Given the description of an element on the screen output the (x, y) to click on. 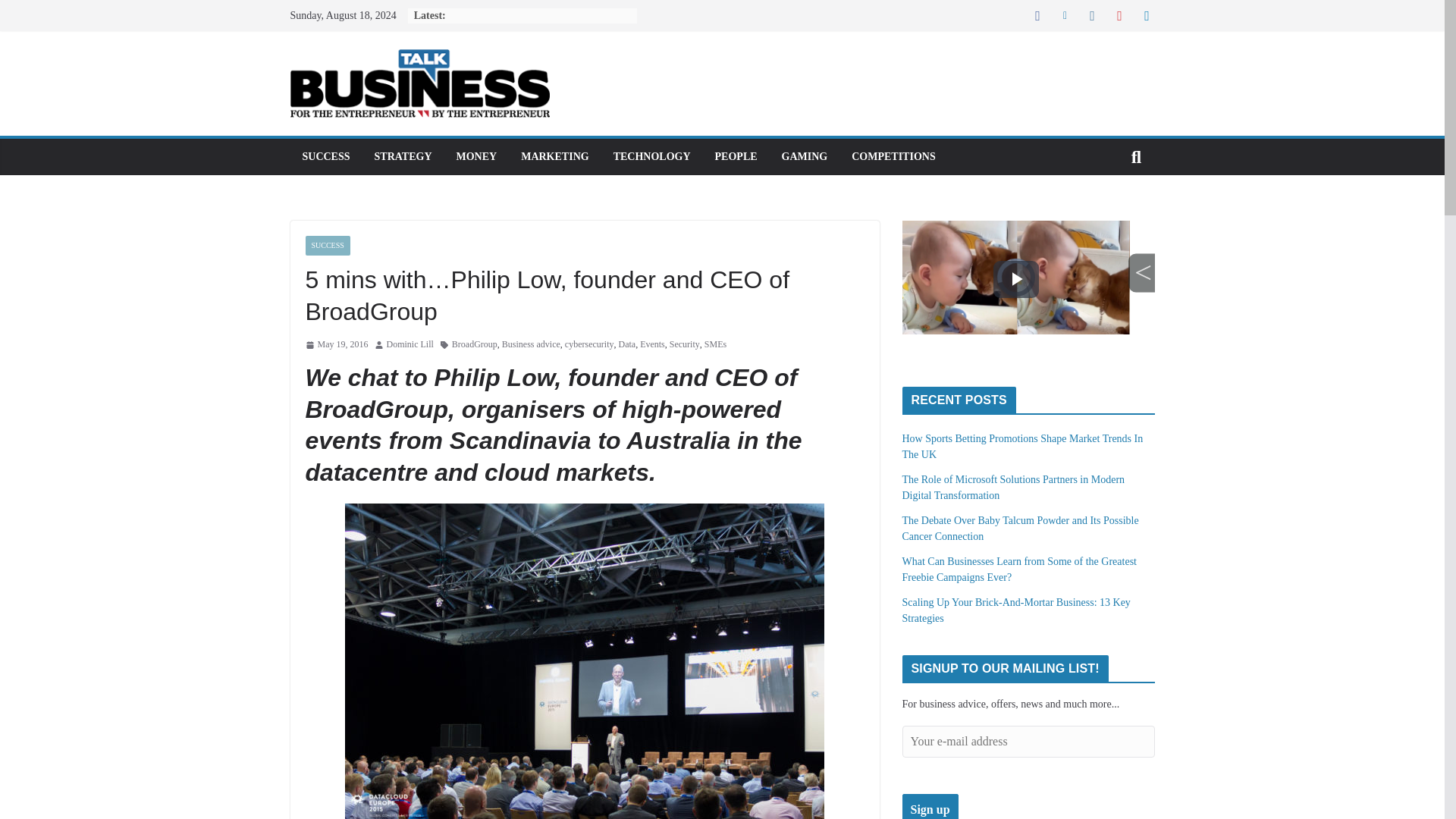
Security (684, 344)
Dominic Lill (410, 344)
STRATEGY (403, 156)
BroadGroup (474, 344)
SUCCESS (325, 156)
Business advice (531, 344)
GAMING (804, 156)
PEOPLE (735, 156)
COMPETITIONS (892, 156)
